Given the description of an element on the screen output the (x, y) to click on. 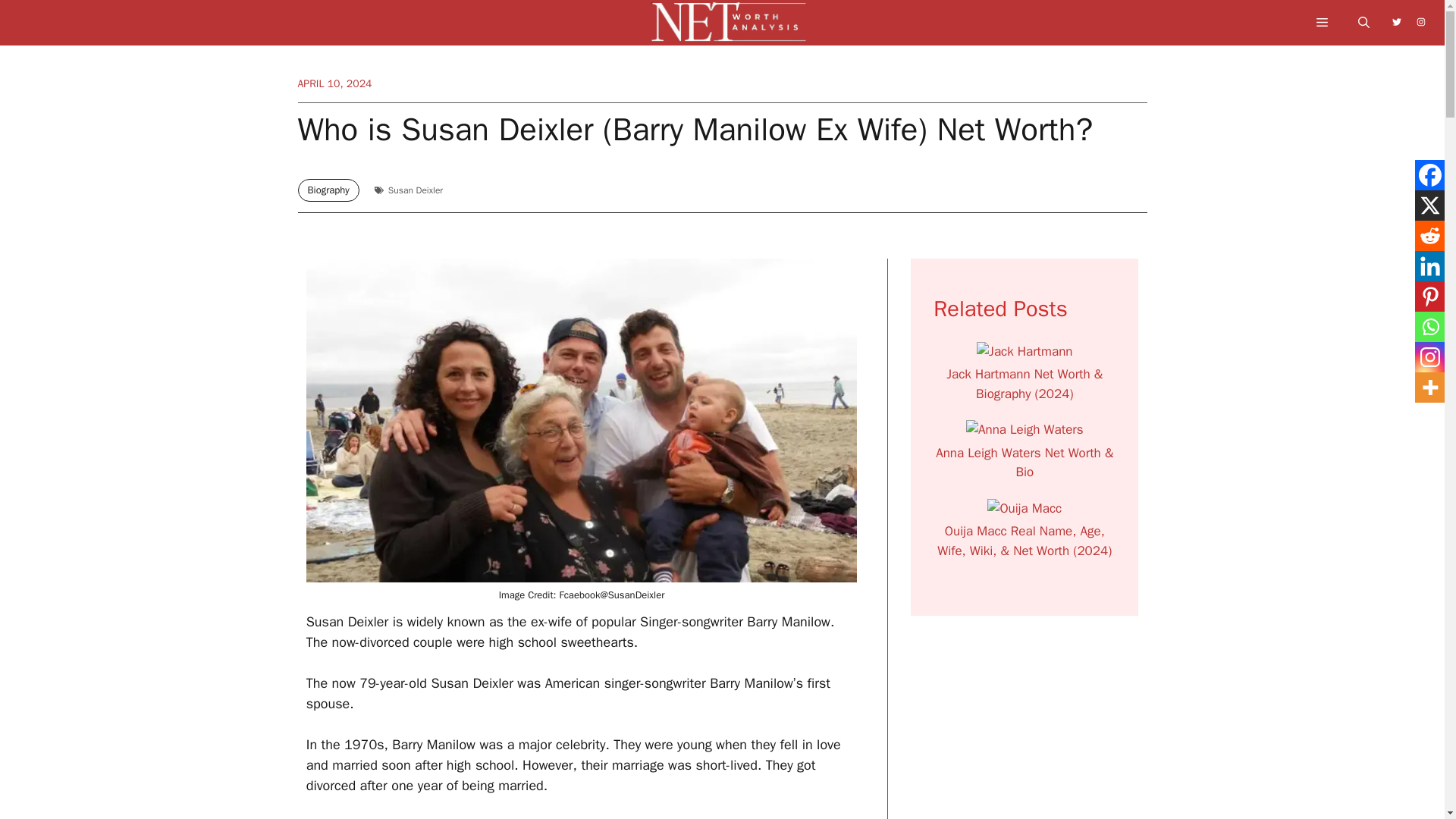
Susan Deixler (415, 190)
Biography (327, 190)
Net Worth Analysis (728, 26)
